Given the description of an element on the screen output the (x, y) to click on. 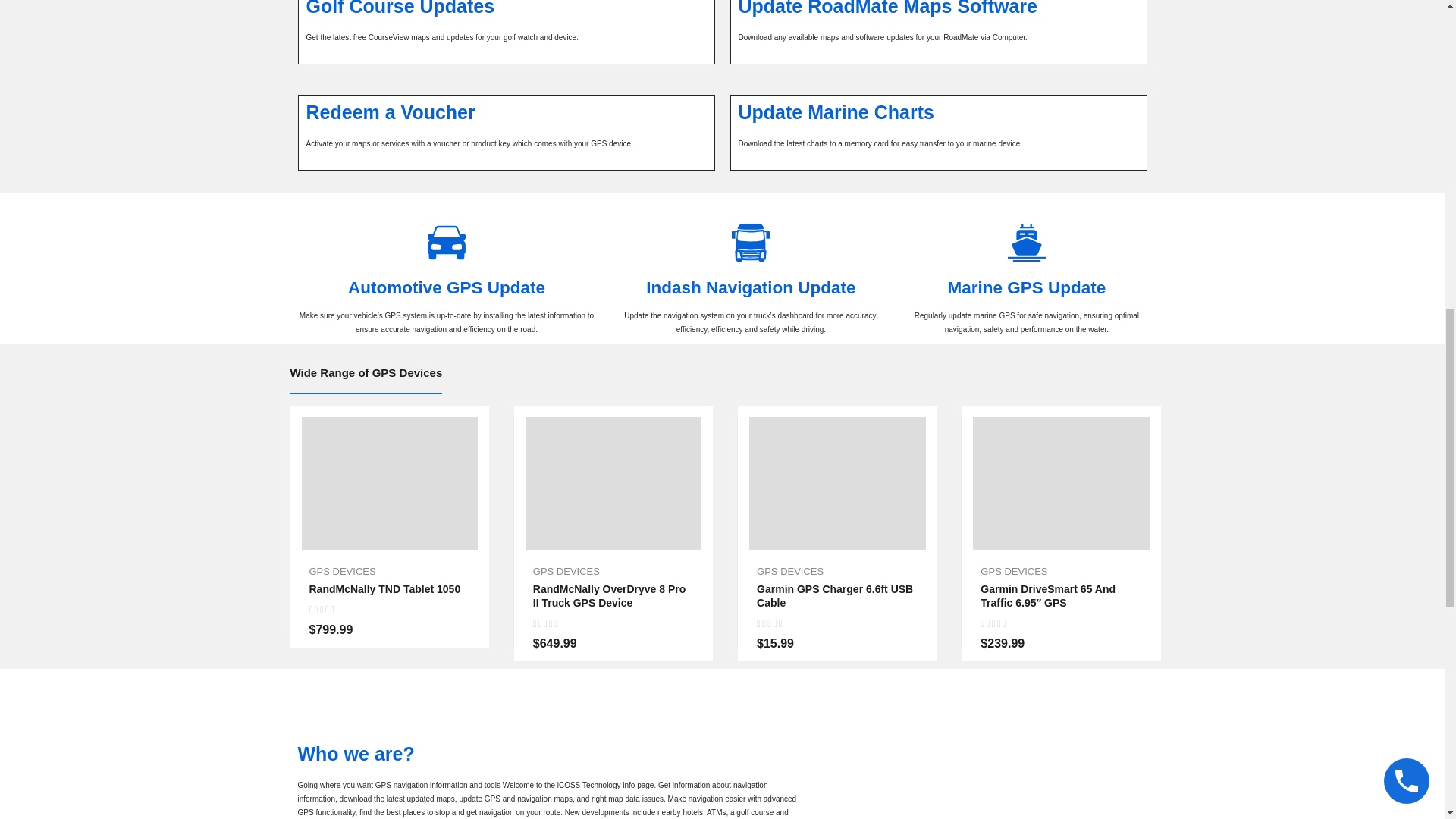
RandMcNally OverDryve 8 Pro II Truck GPS Device (608, 596)
GPS DEVICES (1012, 571)
Wide Range of GPS Devices (365, 372)
GPS DEVICES (565, 571)
RandMcNally TND Tablet 1050 (390, 482)
Garmin GPS Charger 6.6ft USB Cable (837, 482)
GPS DEVICES (341, 571)
GPS DEVICES (790, 571)
RandMcNally TND Tablet 1050 (384, 589)
RandMcNally OverDryve 8 Pro II Truck GPS Device (613, 482)
Garmin GPS Charger 6.6ft USB Cable (834, 596)
